Given the description of an element on the screen output the (x, y) to click on. 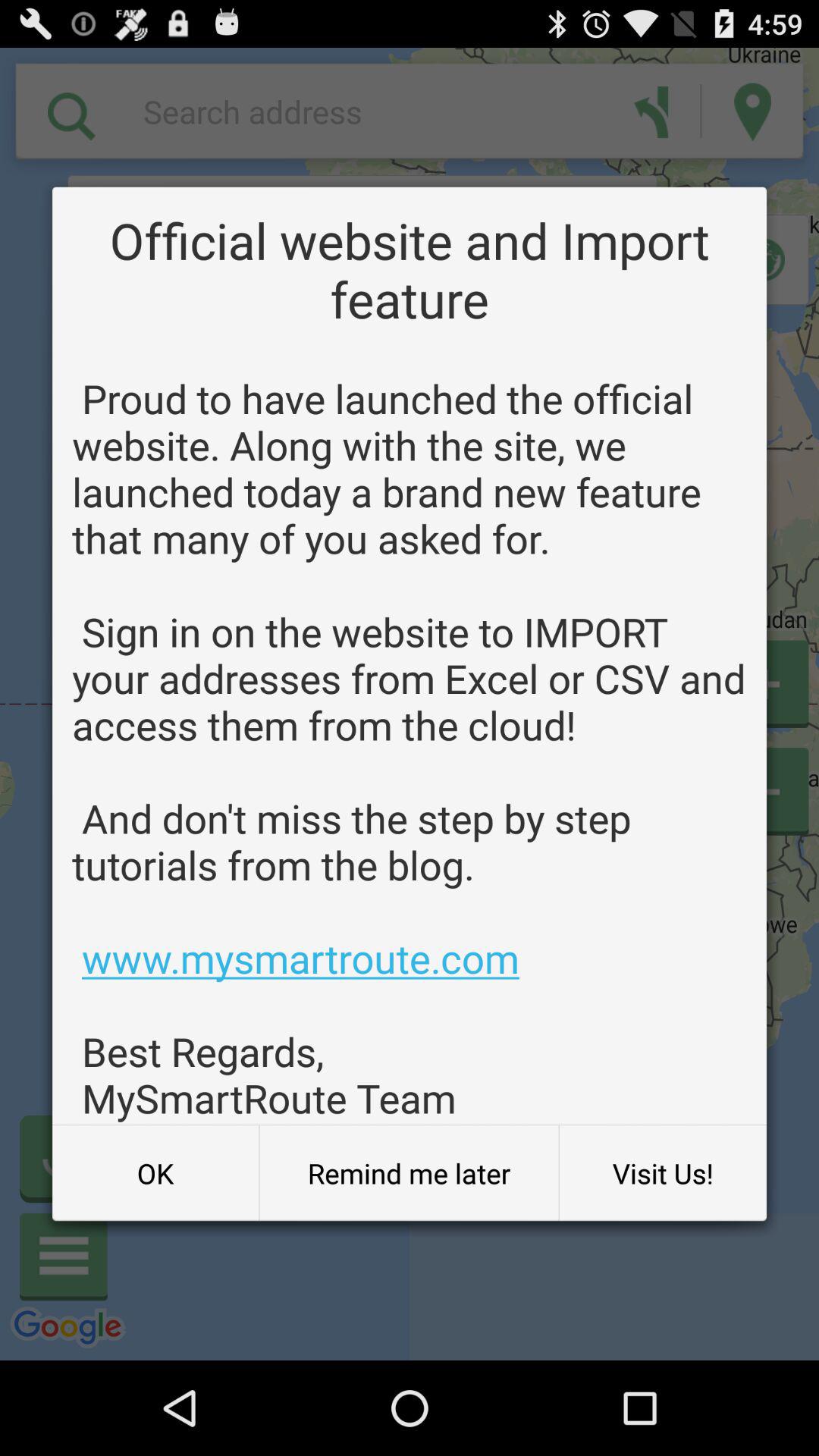
tap the visit us! (662, 1173)
